Given the description of an element on the screen output the (x, y) to click on. 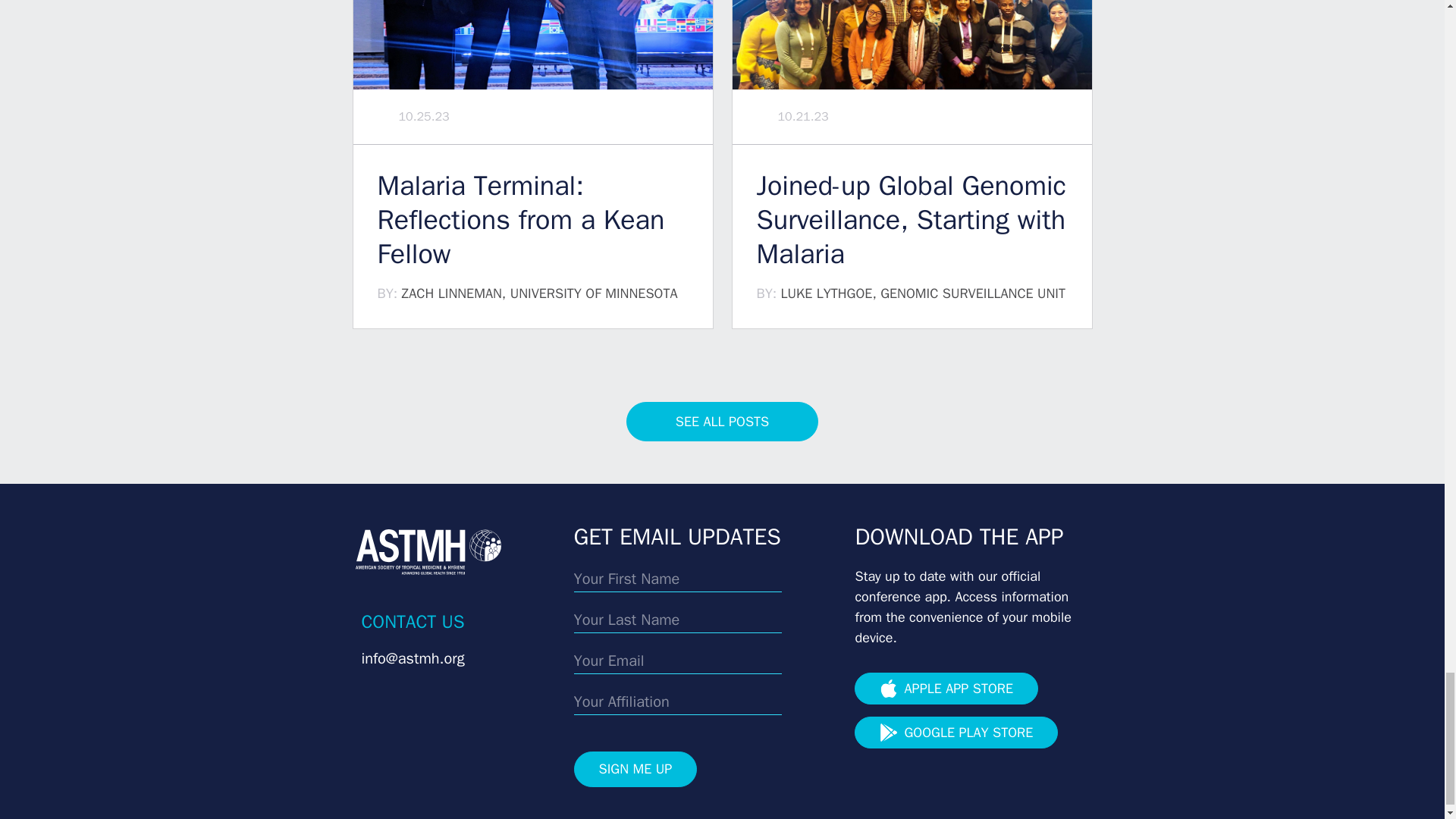
APPLE APP STORE (946, 688)
SEE ALL POSTS (722, 421)
GOOGLE PLAY STORE (956, 732)
Joined-up Global Genomic Surveillance, Starting with Malaria (912, 219)
CONTACT US (412, 621)
SIGN ME UP (635, 769)
Malaria Terminal: Reflections from a Kean Fellow (532, 219)
